Given the description of an element on the screen output the (x, y) to click on. 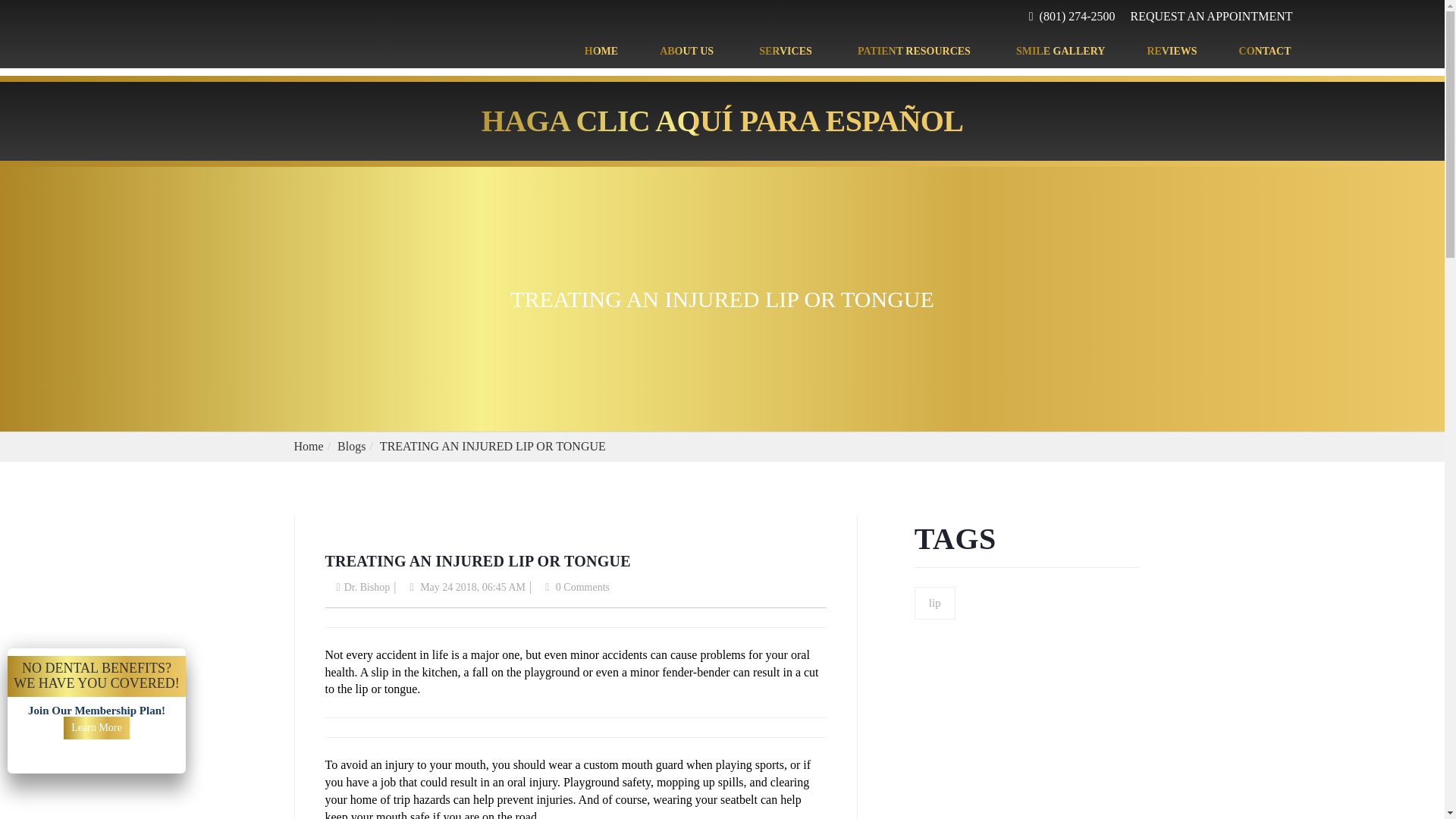
PATIENT RESOURCES (916, 51)
HOME (601, 51)
REQUEST AN APPOINTMENT (1211, 16)
SERVICES (787, 51)
ABOUT US (688, 51)
